Given the description of an element on the screen output the (x, y) to click on. 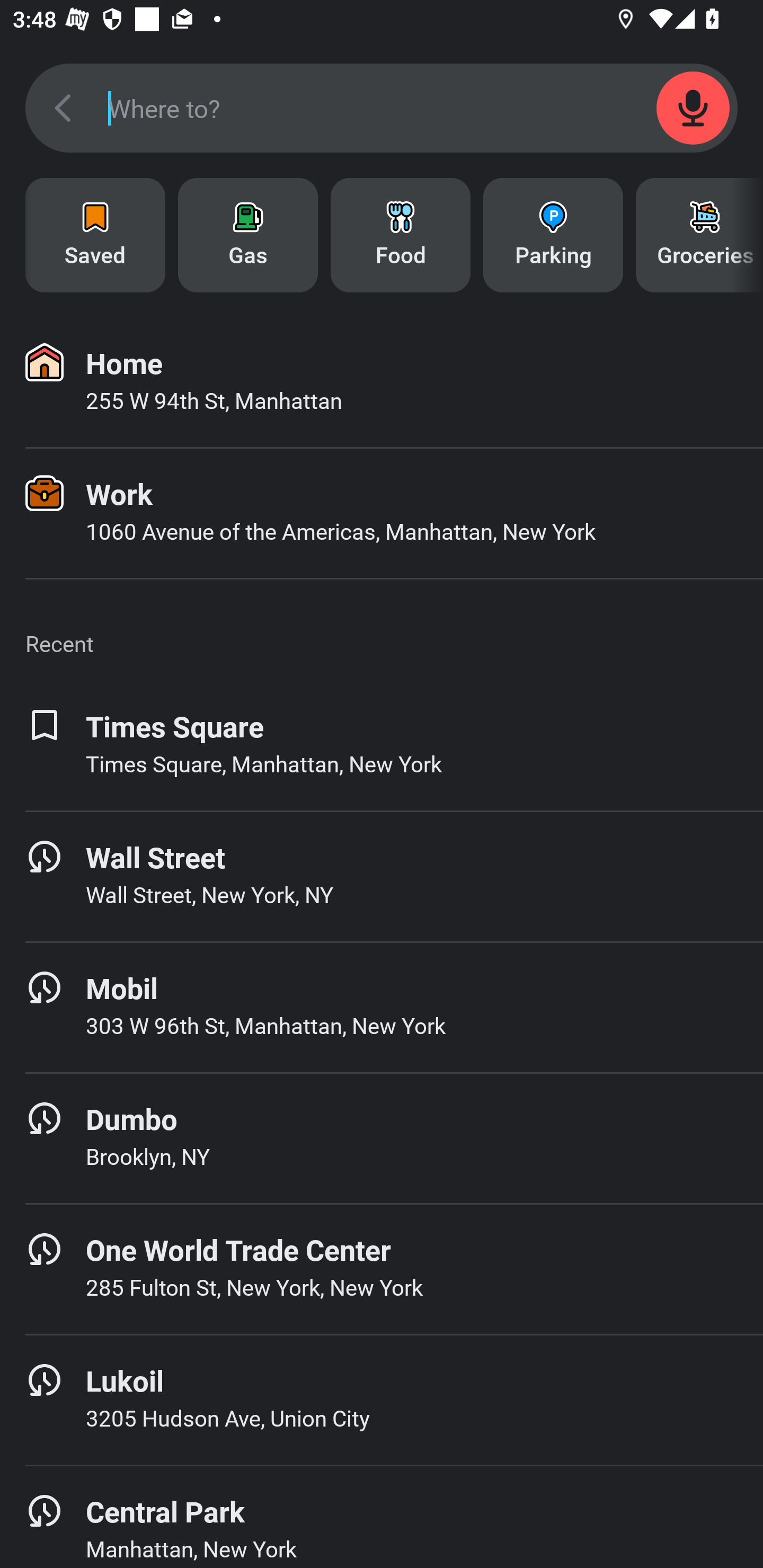
SEARCH_SCREEN_SEARCH_FIELD Where to? (381, 108)
Saved (95, 234)
Gas (247, 234)
Food (400, 234)
Parking (552, 234)
Groceries (699, 234)
Home 255 W 94th St, Manhattan (381, 382)
Times Square Times Square, Manhattan, New York (381, 745)
Wall Street Wall Street, New York, NY (381, 876)
Mobil 303 W 96th St, Manhattan, New York (381, 1007)
Dumbo Brooklyn, NY (381, 1138)
Lukoil 3205 Hudson Ave, Union City (381, 1399)
Central Park Manhattan, New York (381, 1517)
